Given the description of an element on the screen output the (x, y) to click on. 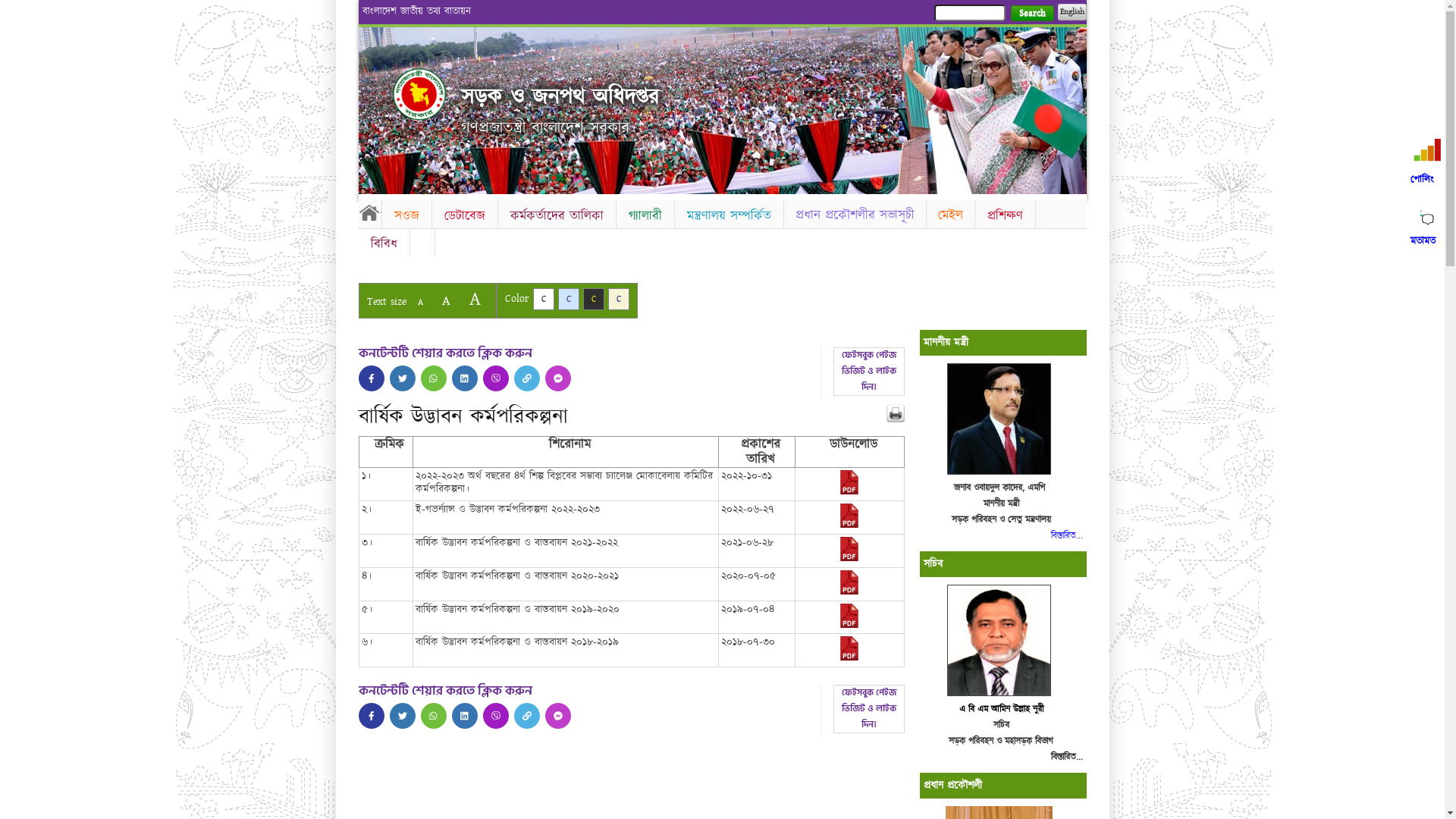
A Element type: text (419, 301)
English Element type: text (1071, 11)
A Element type: text (445, 300)
2022-10-10-08-06-40617e22e7860229aca40dd25da9698d.pdf Element type: hover (849, 524)
Search Element type: text (1031, 13)
Udhabon_2019-20 (1).pdf Element type: hover (849, 624)
Home Element type: hover (368, 211)
C Element type: text (568, 299)
2022-12-04-05-45-40a2d46f12990be25d961e24965e5c10.pdf Element type: hover (849, 490)
C Element type: text (592, 299)
A Element type: text (474, 298)
C Element type: text (542, 299)
2022-01-10-06-36-9917b56159b3827847e0e517d3e63af9.pdf Element type: hover (849, 557)
C Element type: text (618, 299)
Home Element type: hover (418, 93)
